Given the description of an element on the screen output the (x, y) to click on. 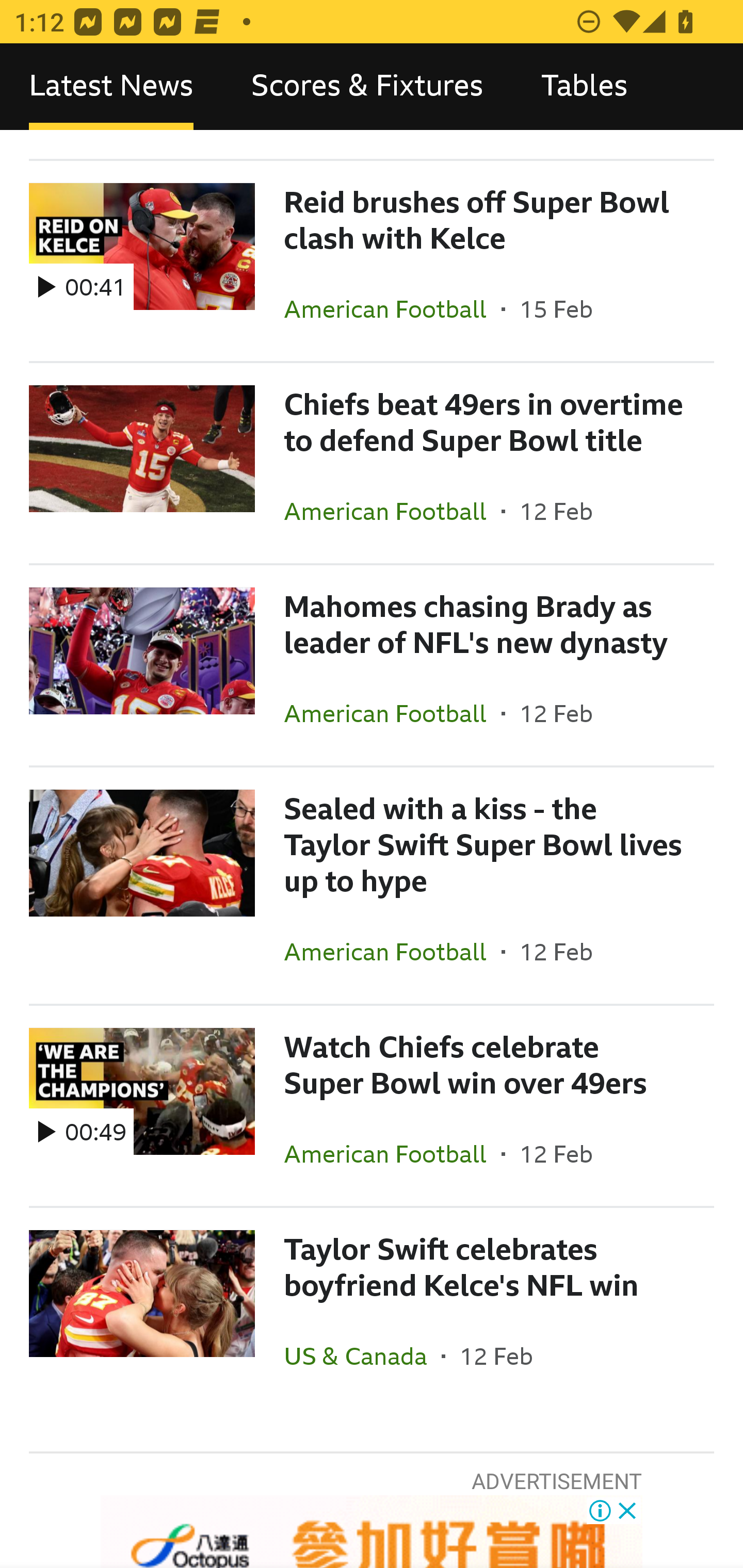
Latest News, selected Latest News (111, 86)
Scores & Fixtures (367, 86)
Tables (584, 86)
US & Canada In the section US & Canada (362, 1356)
